Given the description of an element on the screen output the (x, y) to click on. 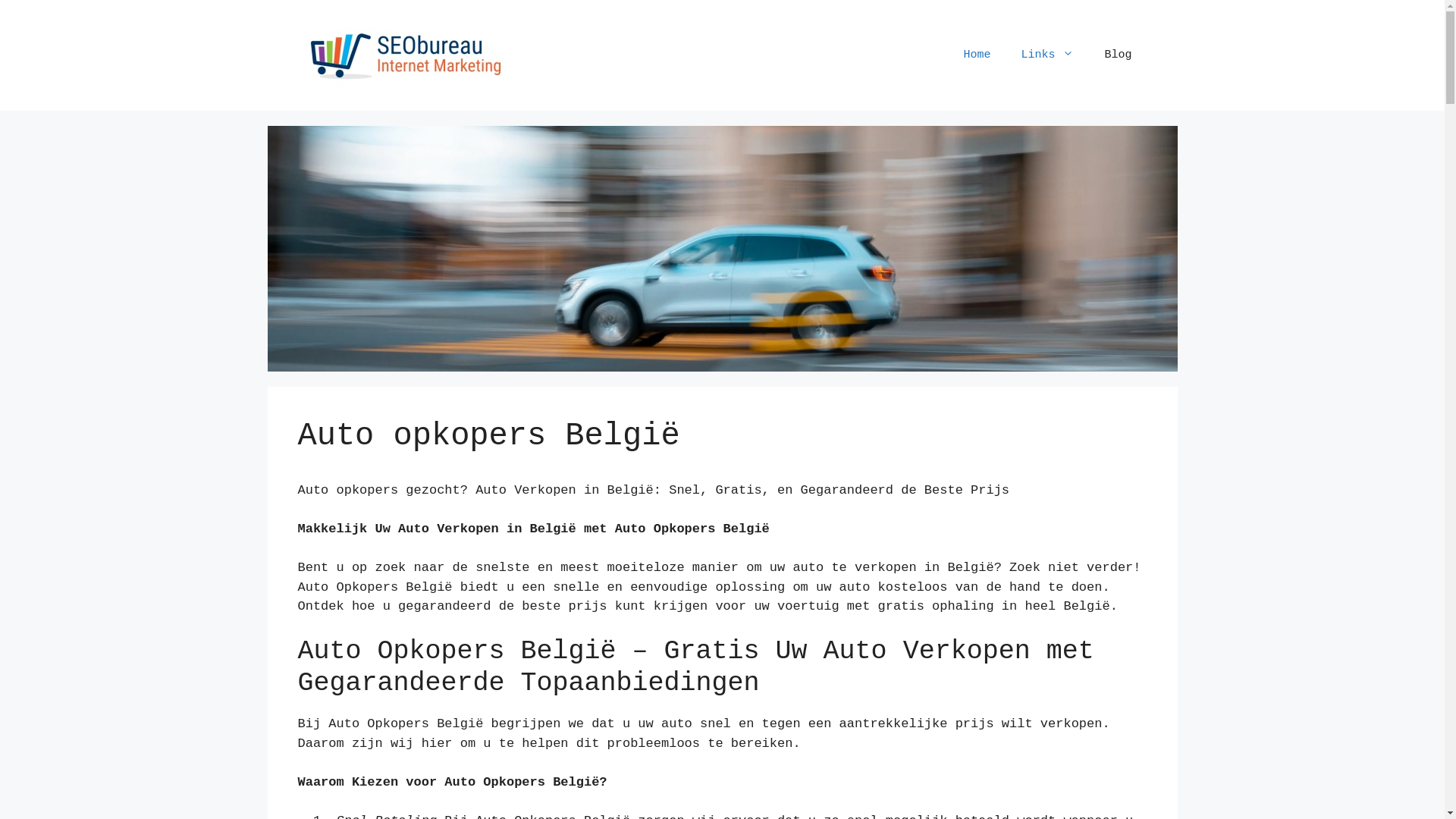
Blog Element type: text (1117, 55)
Links Element type: text (1046, 55)
Home Element type: text (976, 55)
